Given the description of an element on the screen output the (x, y) to click on. 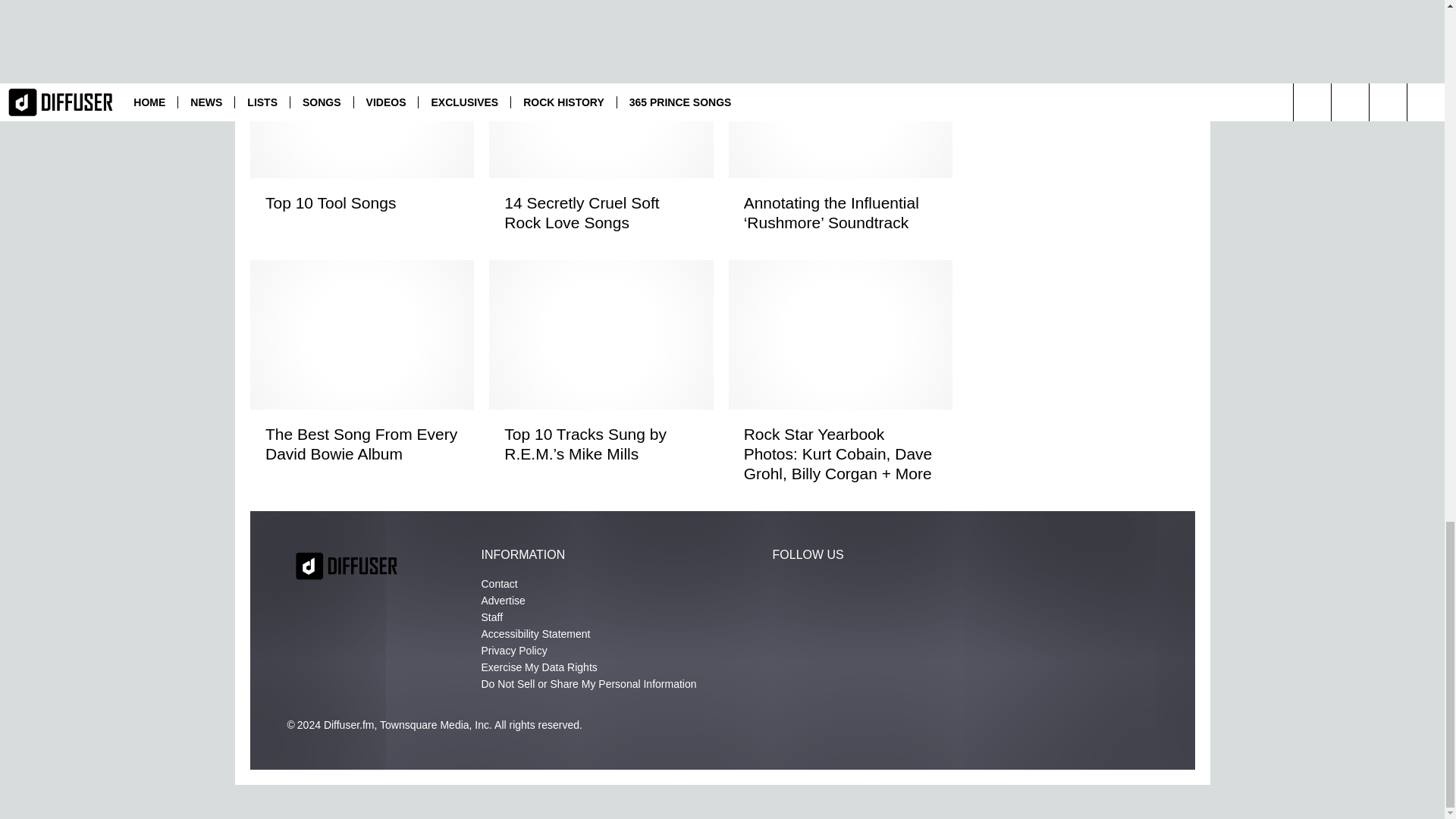
Contact (498, 583)
14 Secretly Cruel Soft Rock Love Songs (600, 212)
The Best Song From Every David Bowie Album (361, 444)
Top 10 Tool Songs (361, 202)
